Given the description of an element on the screen output the (x, y) to click on. 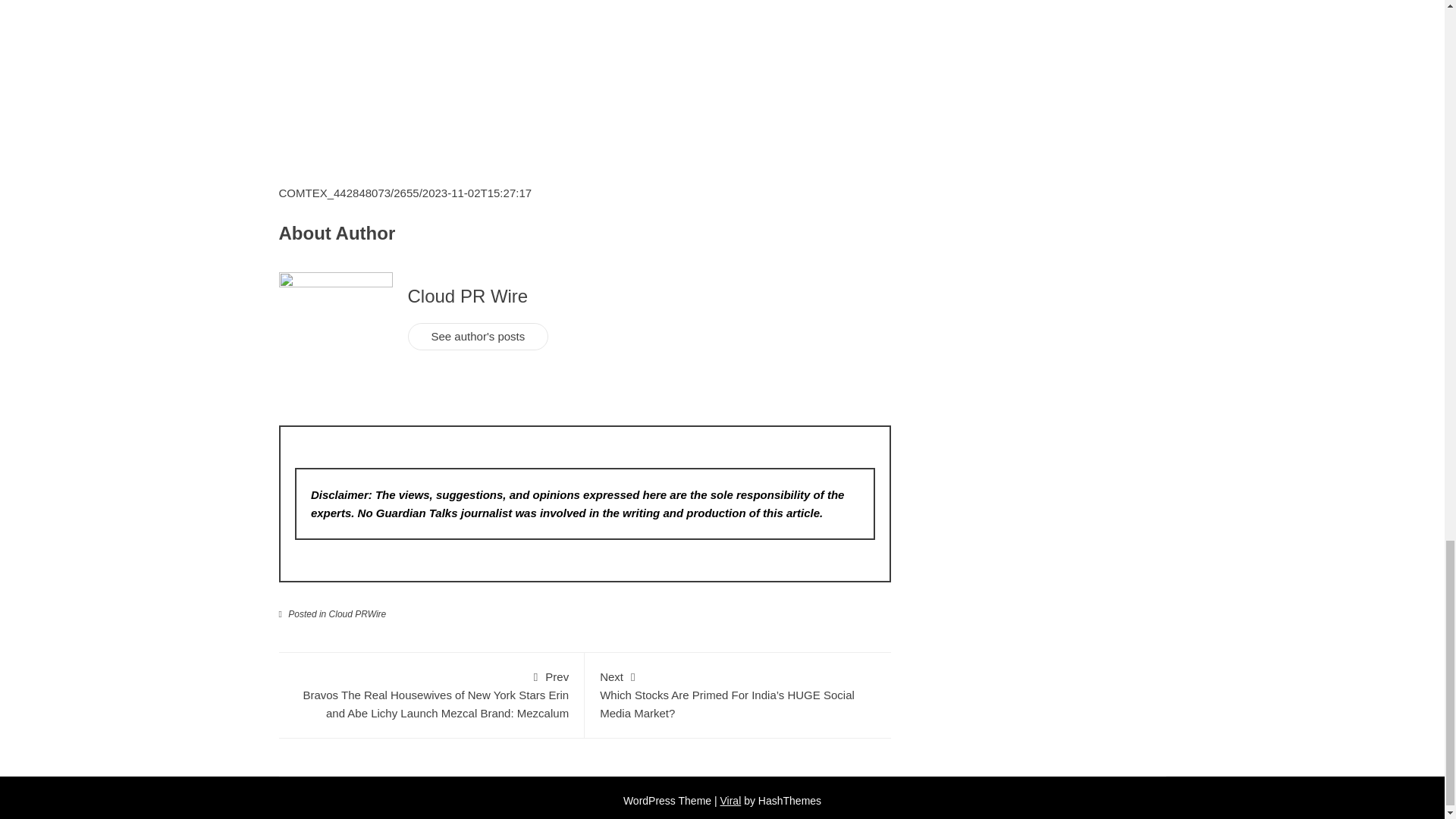
See author's posts (477, 336)
Cloud PRWire (358, 614)
Download Viral (730, 800)
Cloud PR Wire (467, 295)
